Given the description of an element on the screen output the (x, y) to click on. 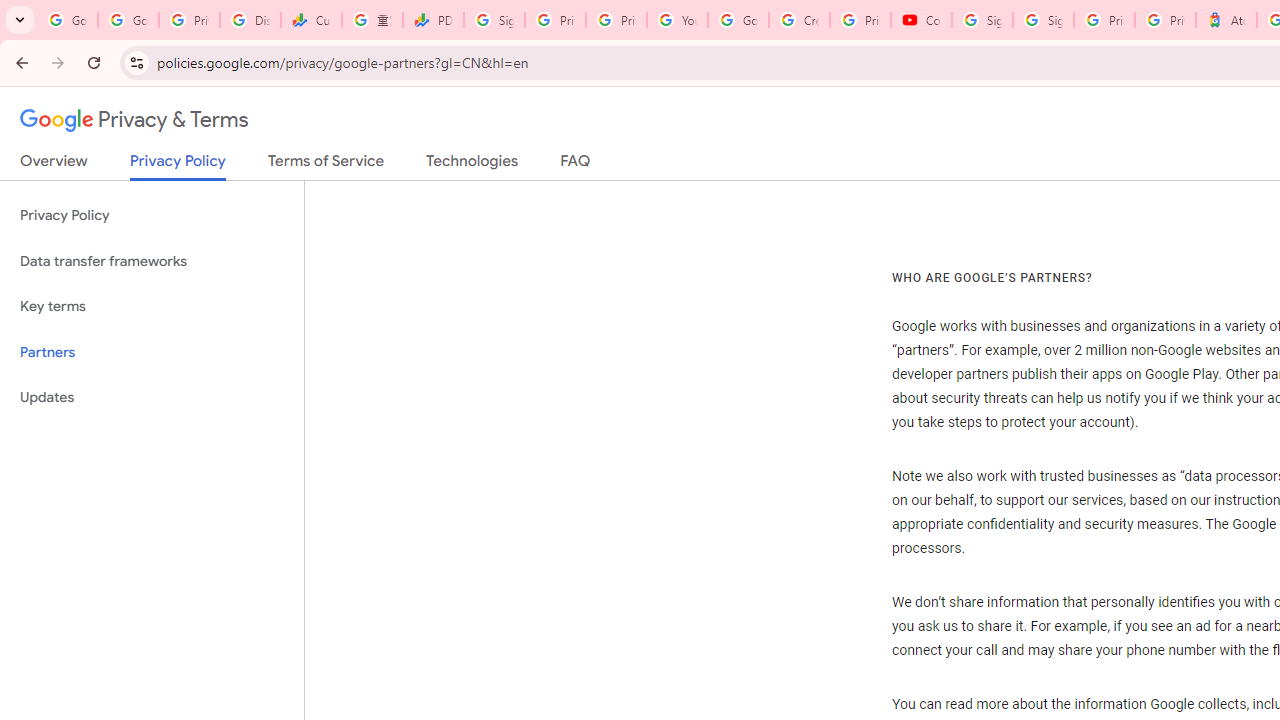
PDD Holdings Inc - ADR (PDD) Price & News - Google Finance (433, 20)
Sign in - Google Accounts (1042, 20)
Google Account Help (738, 20)
Content Creator Programs & Opportunities - YouTube Creators (921, 20)
